Given the description of an element on the screen output the (x, y) to click on. 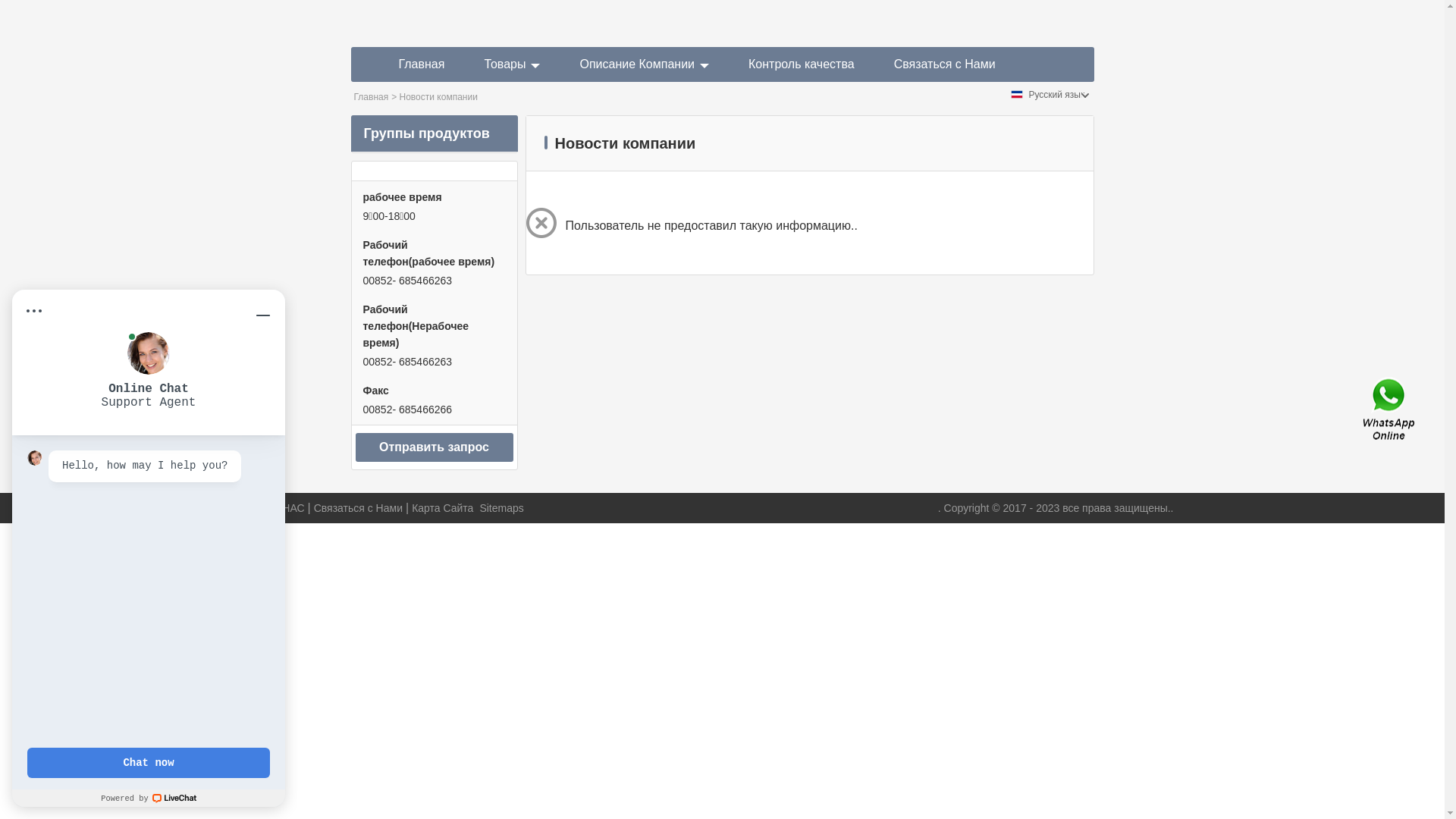
Sitemaps Element type: text (501, 508)
Contact Us Element type: hover (1389, 409)
